Given the description of an element on the screen output the (x, y) to click on. 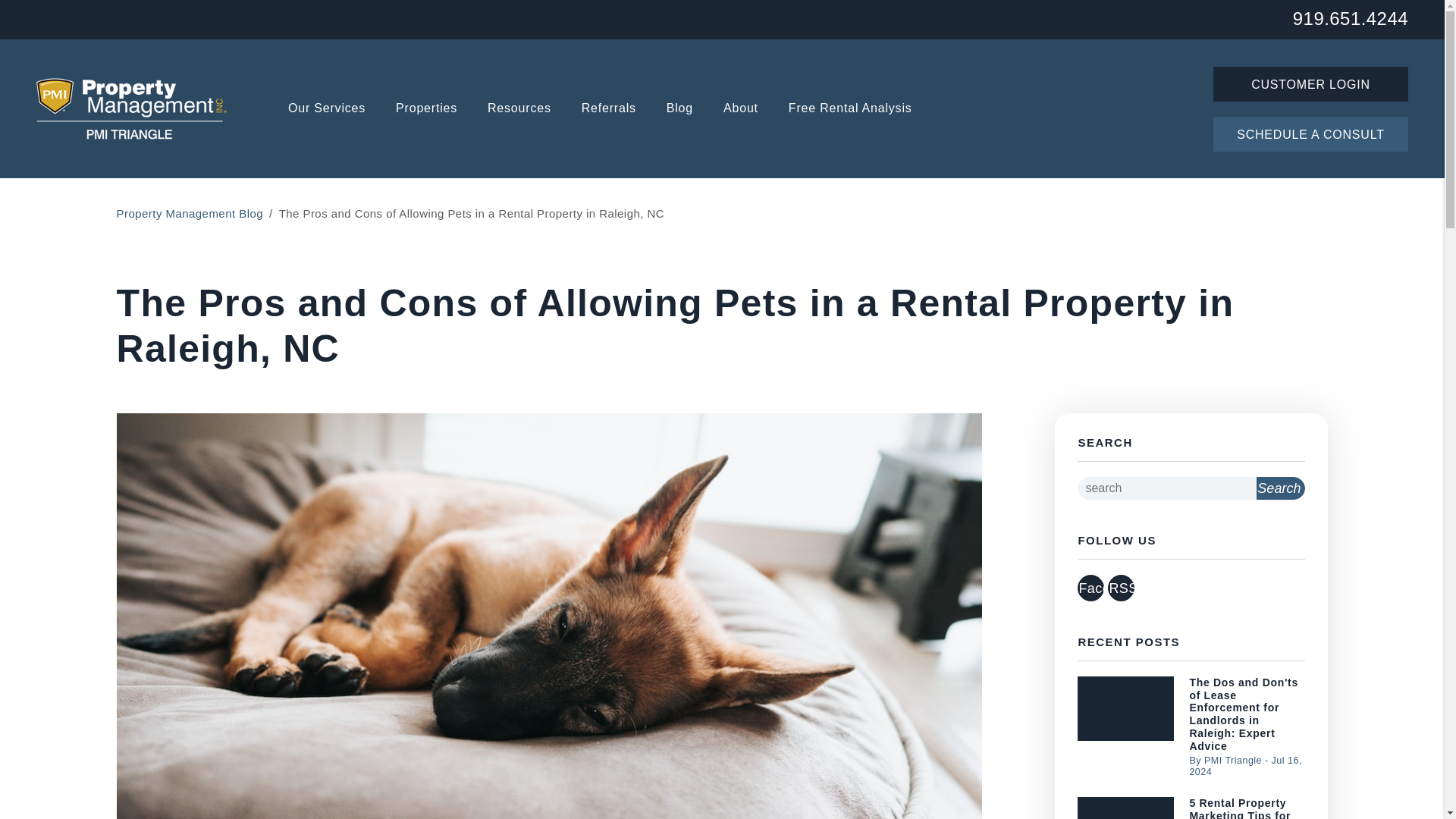
At least 3 characters (1166, 487)
opens in a new window (1121, 587)
opens in a new window (1090, 587)
CUSTOMER LOGIN (1309, 83)
SCHEDULE A CONSULT (1309, 134)
Free Rental Analysis (850, 108)
919.651.4244 (1349, 17)
About (740, 108)
Properties (426, 108)
Referrals (608, 108)
